Given the description of an element on the screen output the (x, y) to click on. 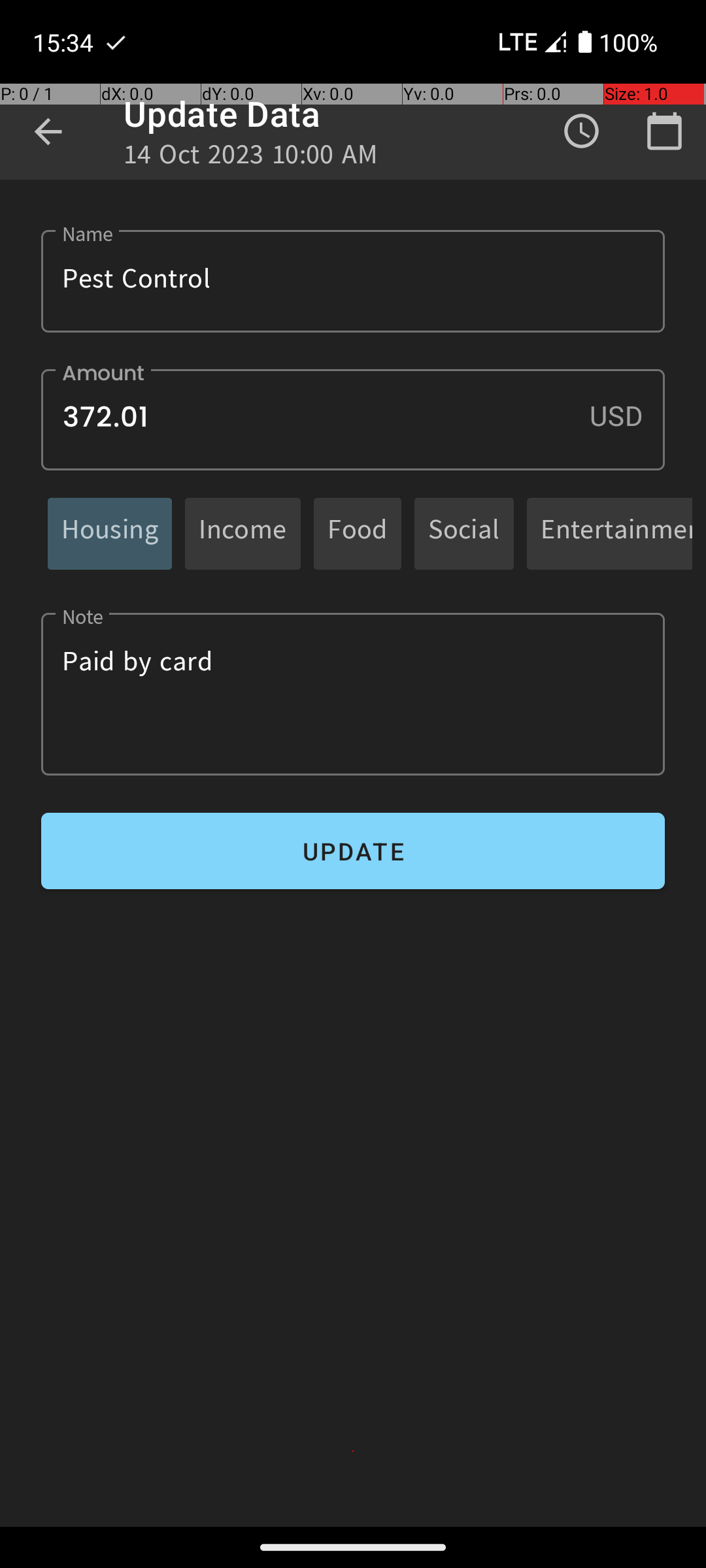
14 Oct 2023 10:00 AM Element type: android.widget.TextView (250, 157)
Pest Control Element type: android.widget.EditText (352, 280)
372.01 Element type: android.widget.EditText (352, 419)
